Given the description of an element on the screen output the (x, y) to click on. 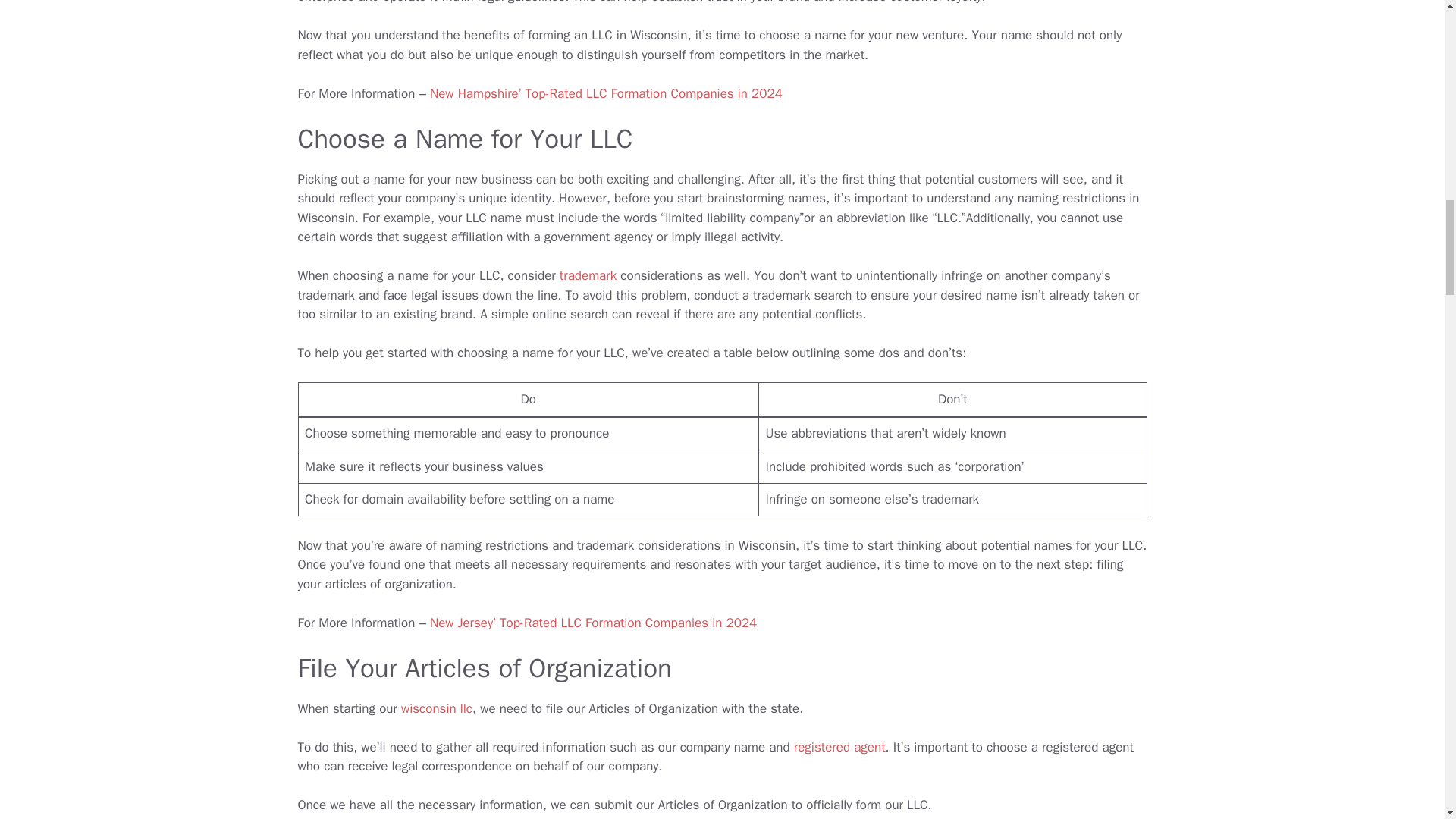
The Ultimate Guide to Starting an Wisconsin LLC in 2023 (436, 708)
A Complete Guide to the Top Trademark Services in the US (587, 275)
Finding the Best Registered Agent Services of 2023 (839, 747)
trademark (587, 275)
